Given the description of an element on the screen output the (x, y) to click on. 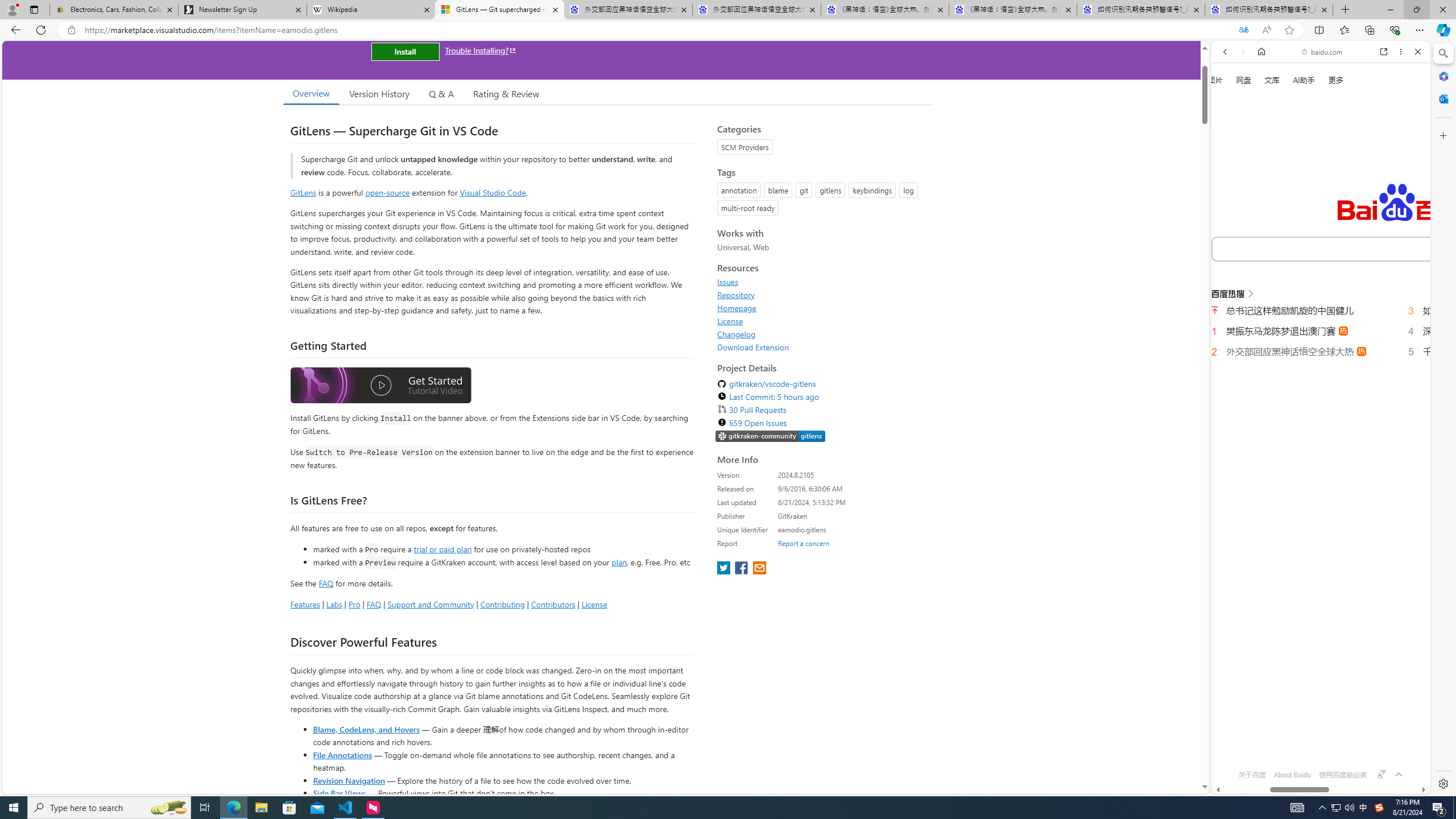
Web scope (1230, 102)
Support and Community (430, 603)
Wikipedia (370, 9)
Repository (735, 294)
https://slack.gitkraken.com// (769, 436)
OFTV (1315, 743)
Search Filter, IMAGES (1262, 192)
trial or paid plan (442, 548)
Revision Navigation (348, 780)
Repository (820, 294)
Forward (1242, 51)
